Given the description of an element on the screen output the (x, y) to click on. 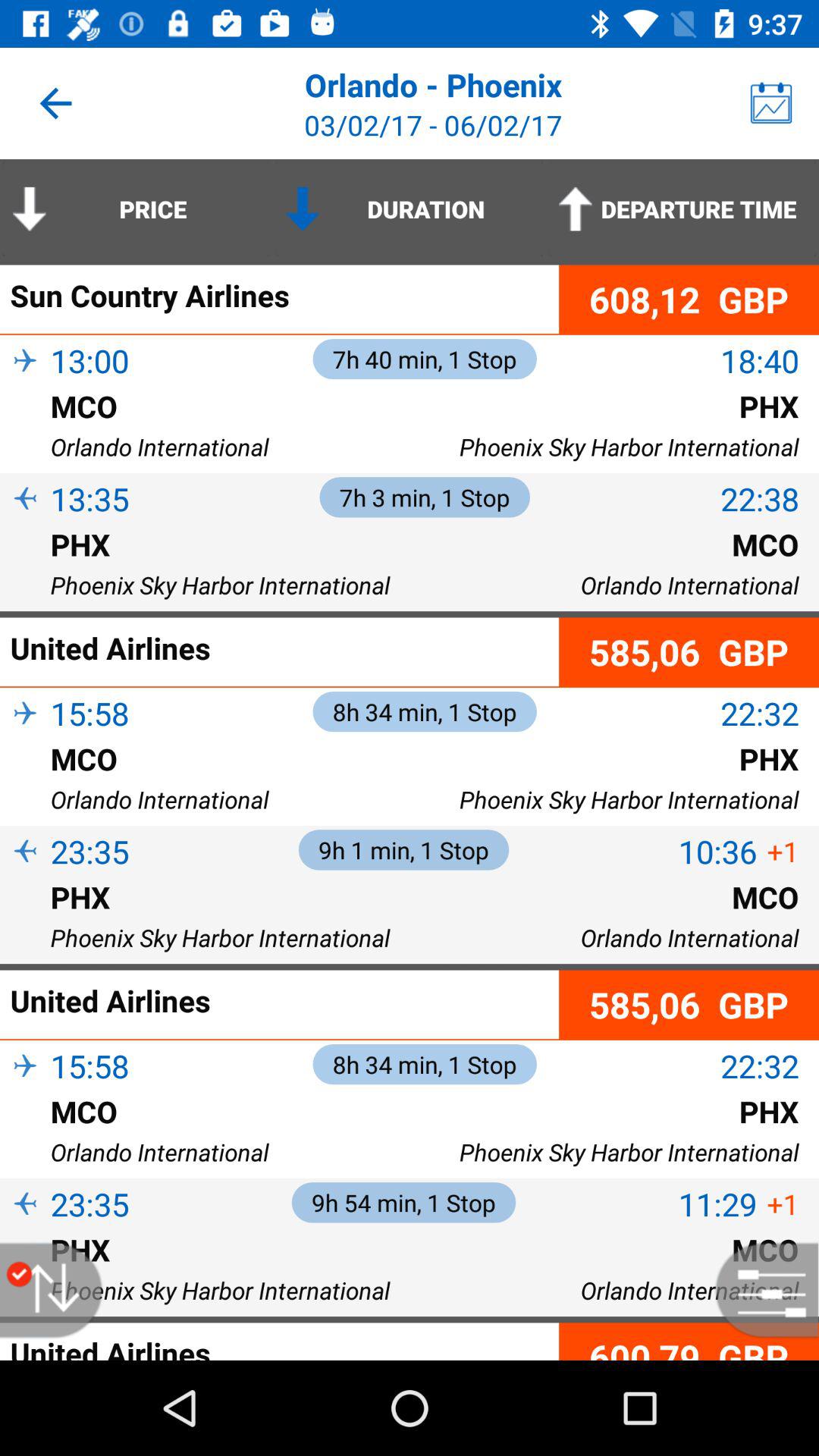
open icon above phoenix sky harbor icon (25, 568)
